Given the description of an element on the screen output the (x, y) to click on. 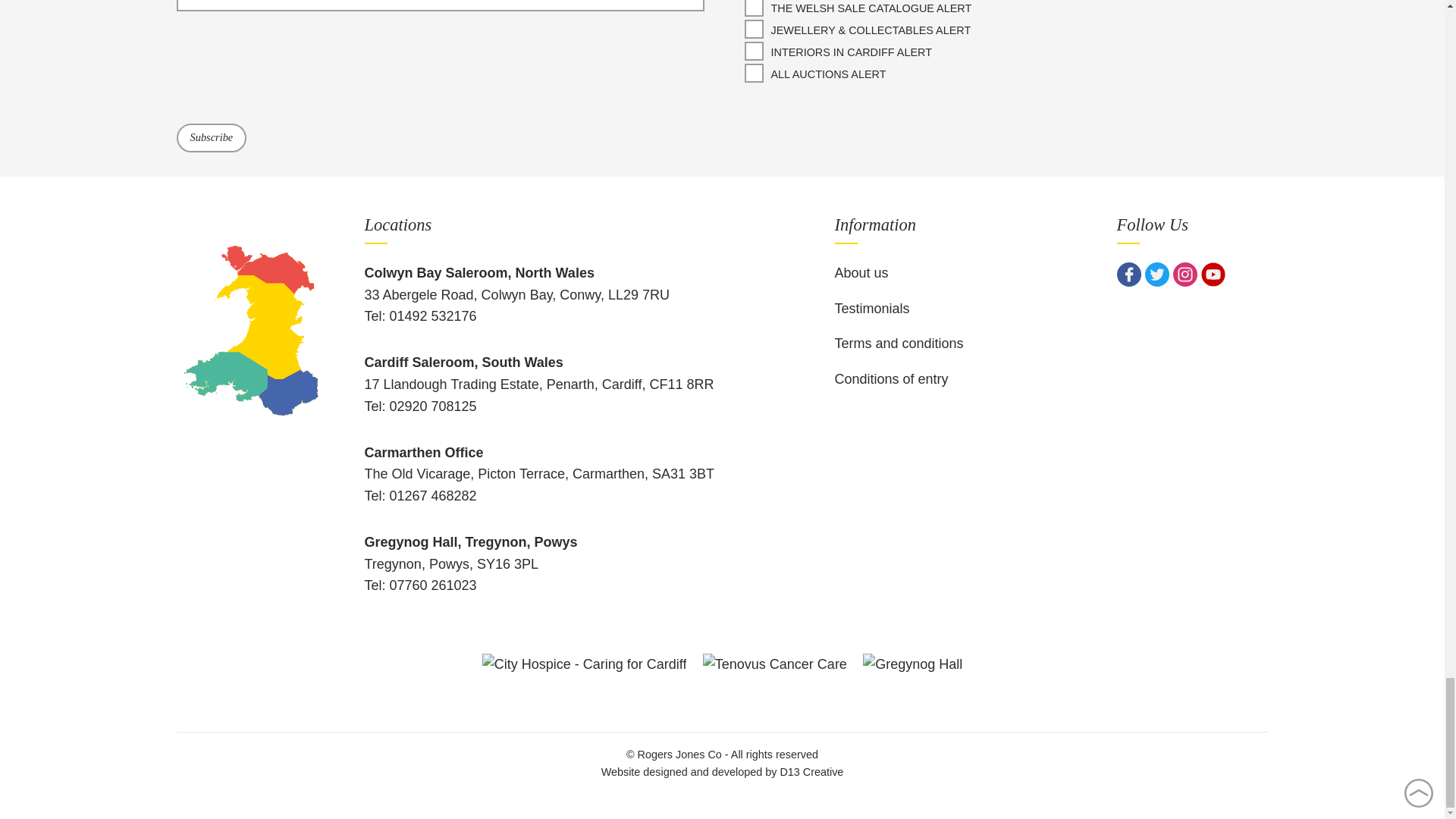
Instagram (1184, 274)
Subscribe (211, 137)
Facebook (1128, 274)
Youtube (1213, 274)
Twitter (1156, 274)
